Given the description of an element on the screen output the (x, y) to click on. 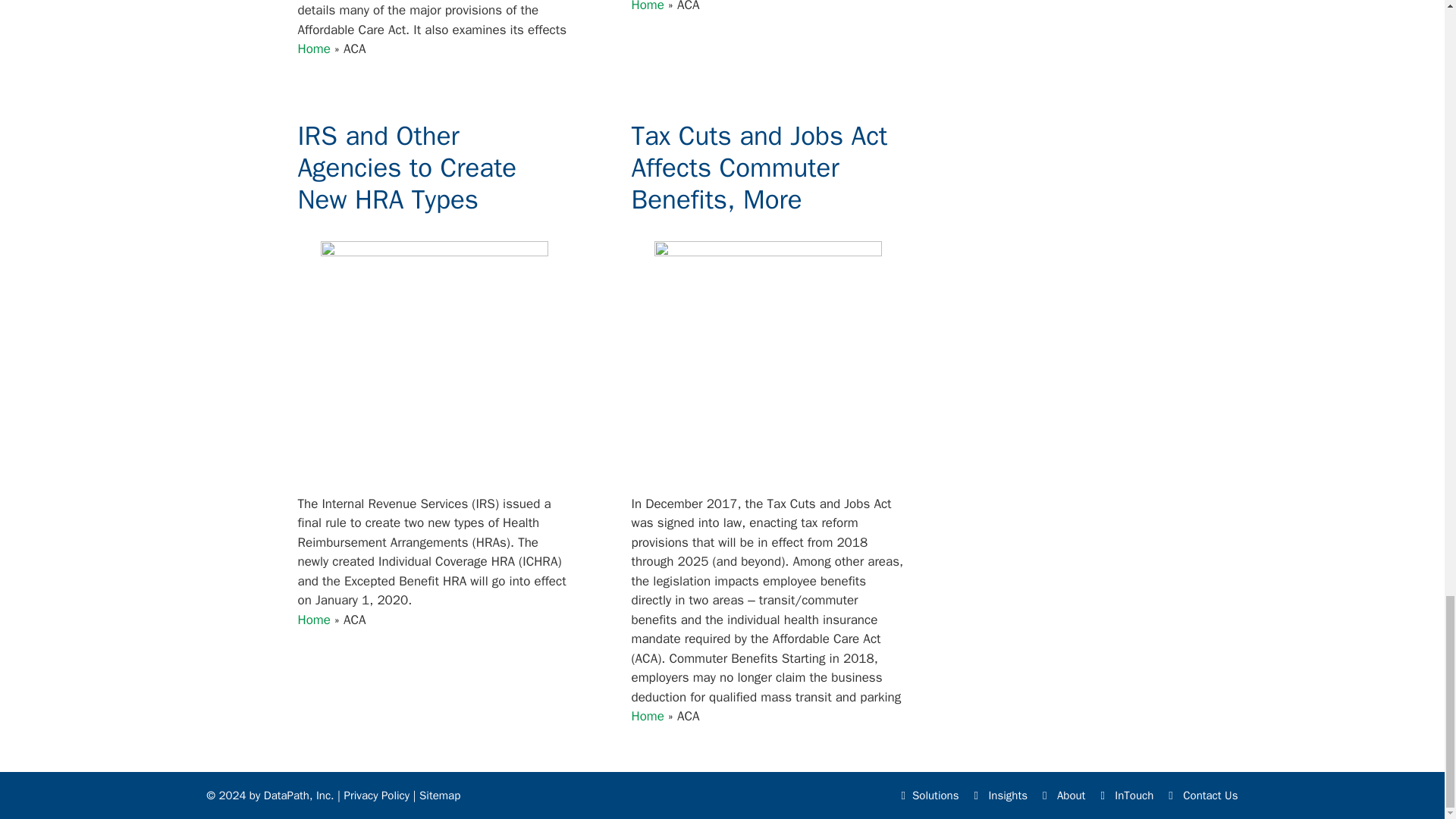
Home (646, 6)
Home (313, 48)
Tax Cuts and Jobs Act Affects Commuter Benefits, More (758, 167)
IRS and Other Agencies to Create New HRA Types (406, 167)
Home (646, 715)
Home (313, 619)
